Given the description of an element on the screen output the (x, y) to click on. 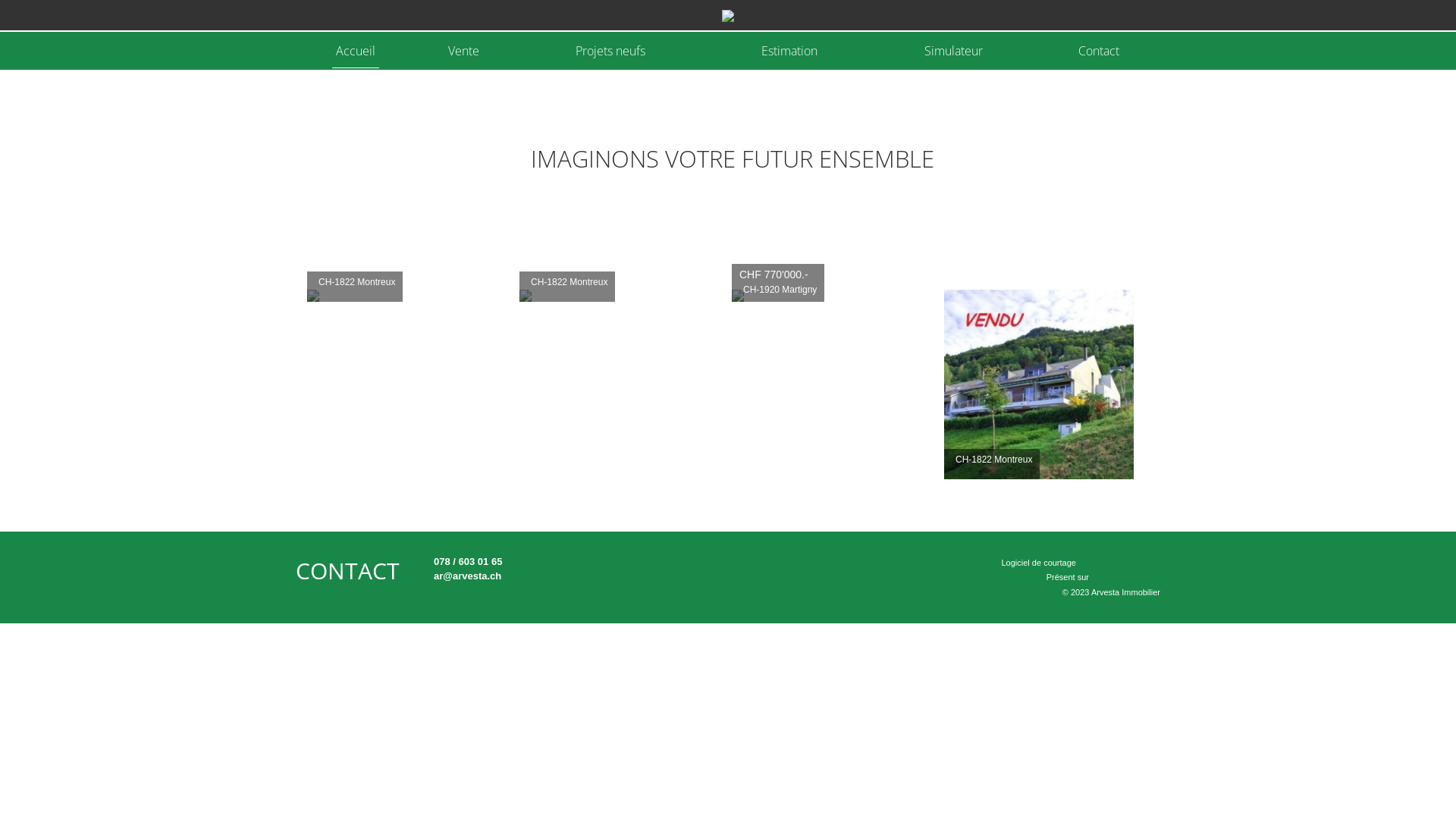
Vente Element type: text (463, 49)
Contact Element type: text (1098, 49)
ar@arvesta.ch Element type: text (465, 575)
Ravissante villa avec superbe vue sur lac et montagne Element type: hover (401, 295)
Projets neufs Element type: text (610, 49)
Accueil Element type: text (355, 49)
Simulateur Element type: text (953, 49)
Estimation Element type: text (789, 49)
